Given the description of an element on the screen output the (x, y) to click on. 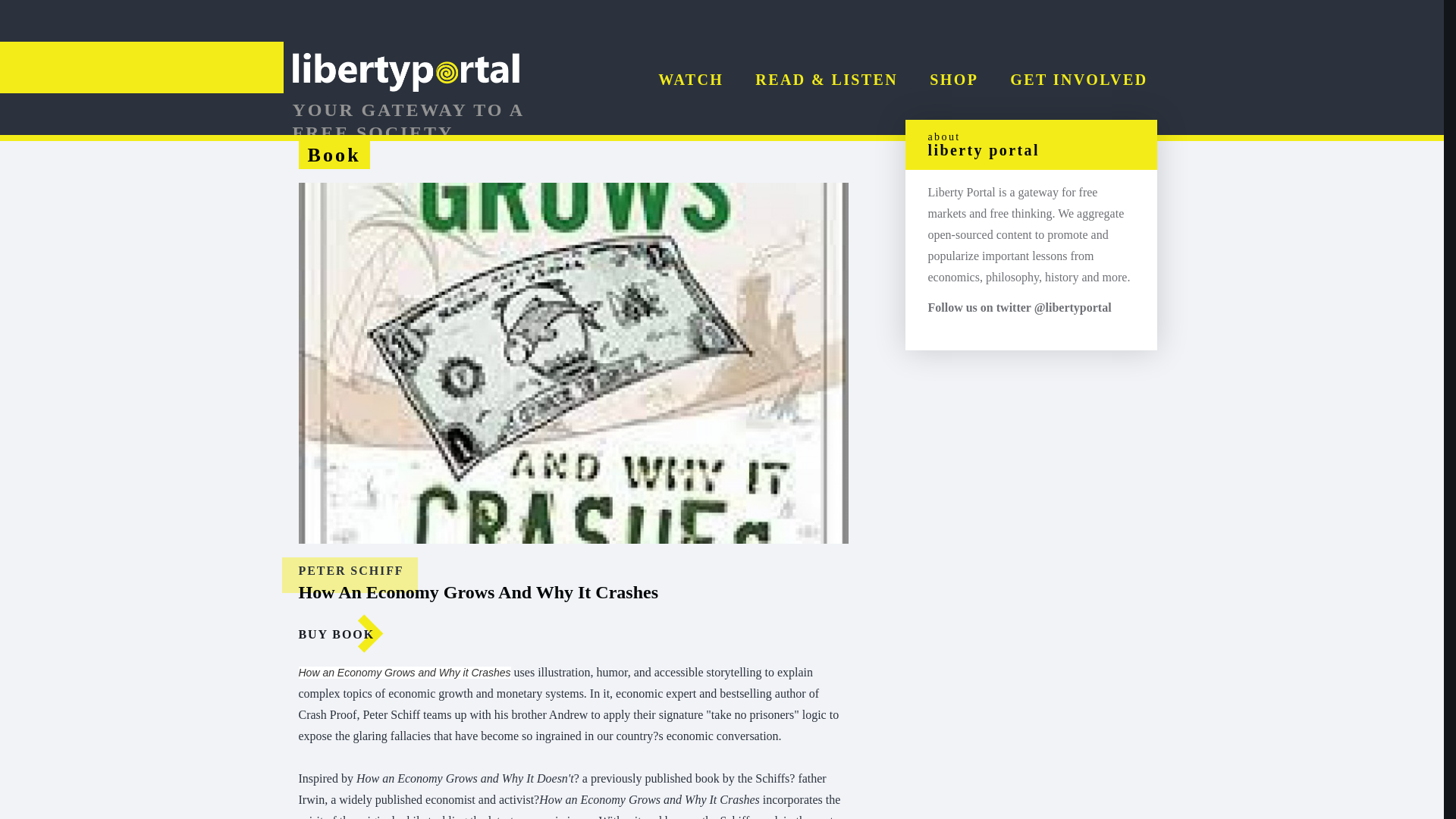
SHOP (954, 79)
GET INVOLVED (1078, 79)
WATCH (690, 79)
